Given the description of an element on the screen output the (x, y) to click on. 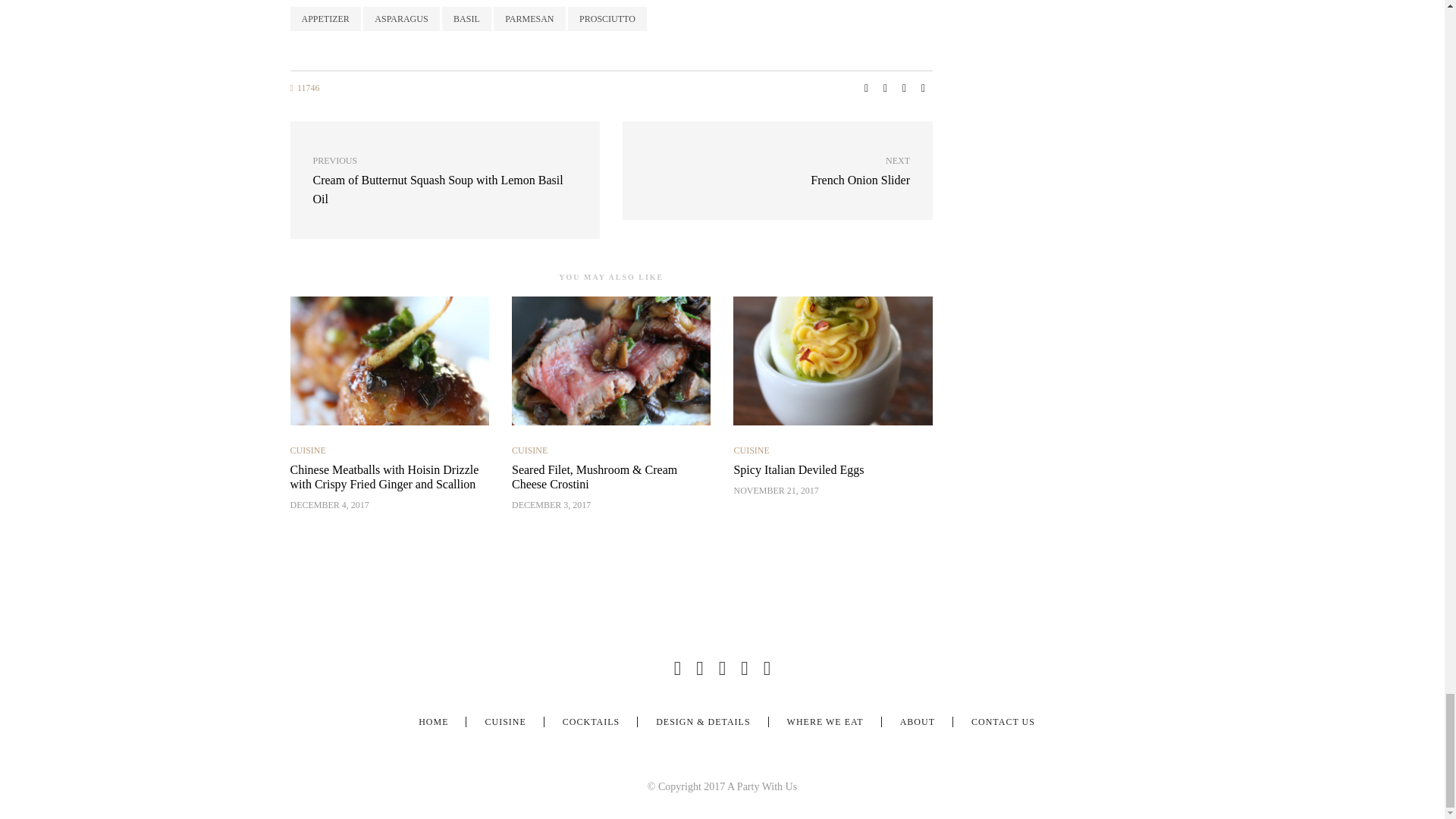
Pin this (923, 88)
BASIL (467, 18)
Share with Google Plus (904, 88)
PROSCIUTTO (444, 180)
Tweet this (606, 18)
APPETIZER (885, 88)
Share this (324, 18)
ASPARAGUS (866, 88)
PARMESAN (400, 18)
